Given the description of an element on the screen output the (x, y) to click on. 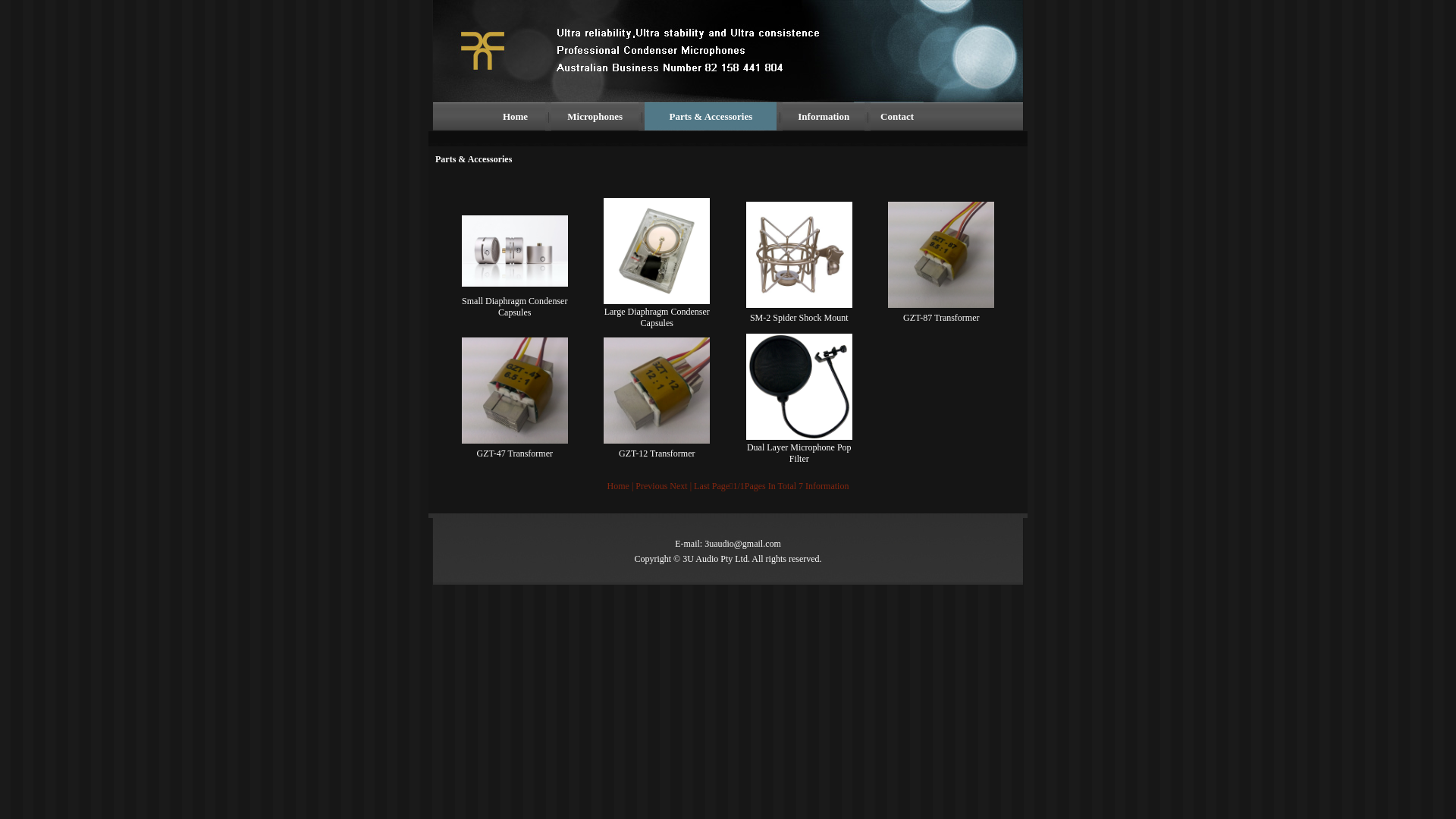
Home Element type: text (514, 116)
GZT-87 Transformer Element type: text (941, 317)
Contact Element type: text (896, 116)
GZT-12 Transformer Element type: text (656, 452)
Dual Layer Microphone Pop Filter Element type: text (798, 453)
GZT-47 Transformer Element type: text (514, 452)
Microphones Element type: text (594, 116)
SM-2 Spider Shock Mount Element type: text (798, 317)
Parts & Accessories Element type: text (710, 116)
Large Diaphragm Condenser Capsules Element type: text (656, 317)
Information Element type: text (823, 116)
Small Diaphragm Condenser Capsules Element type: text (514, 306)
